Given the description of an element on the screen output the (x, y) to click on. 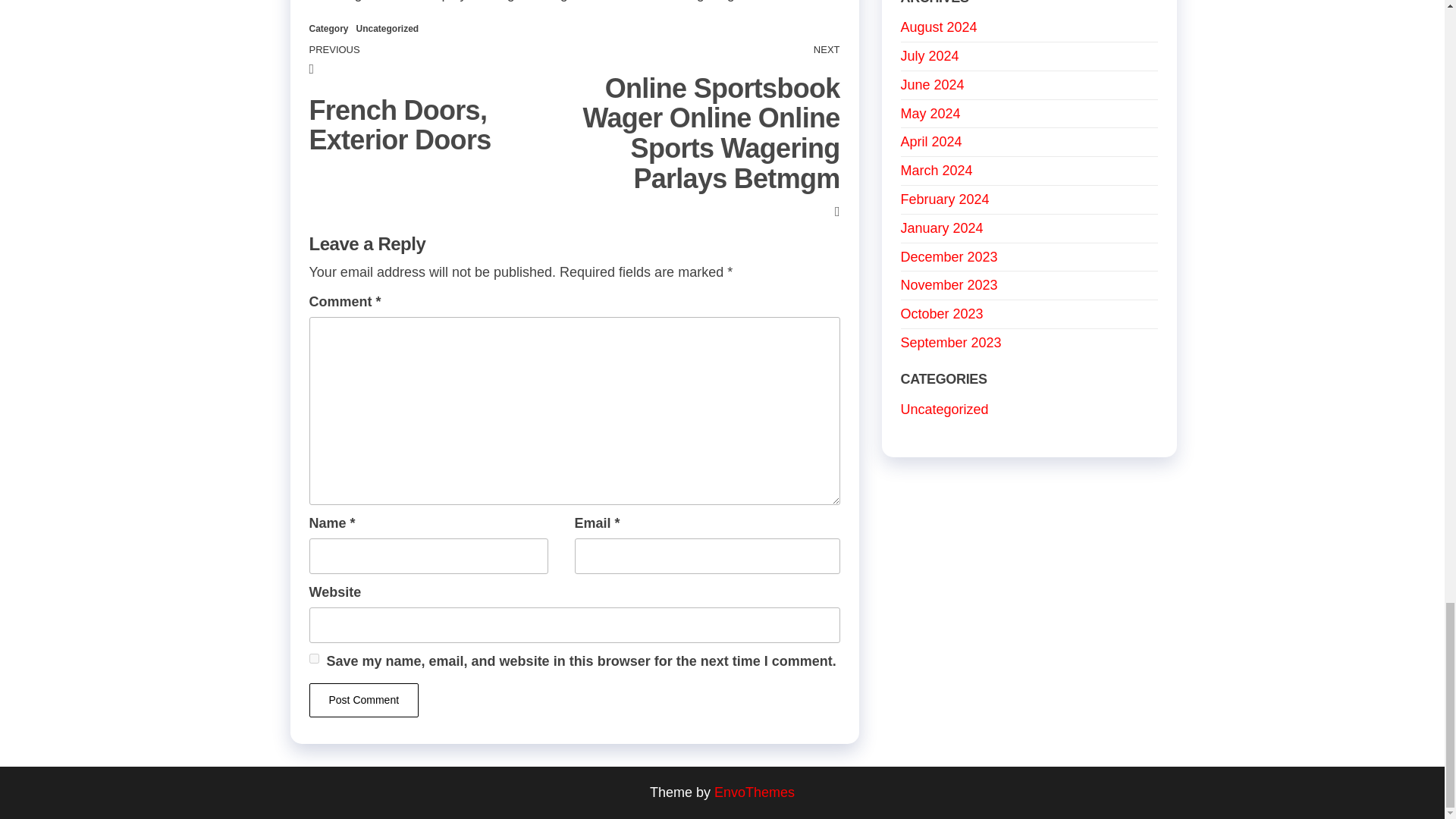
Uncategorized (387, 28)
Post Comment (363, 699)
Post Comment (363, 699)
yes (313, 658)
